Given the description of an element on the screen output the (x, y) to click on. 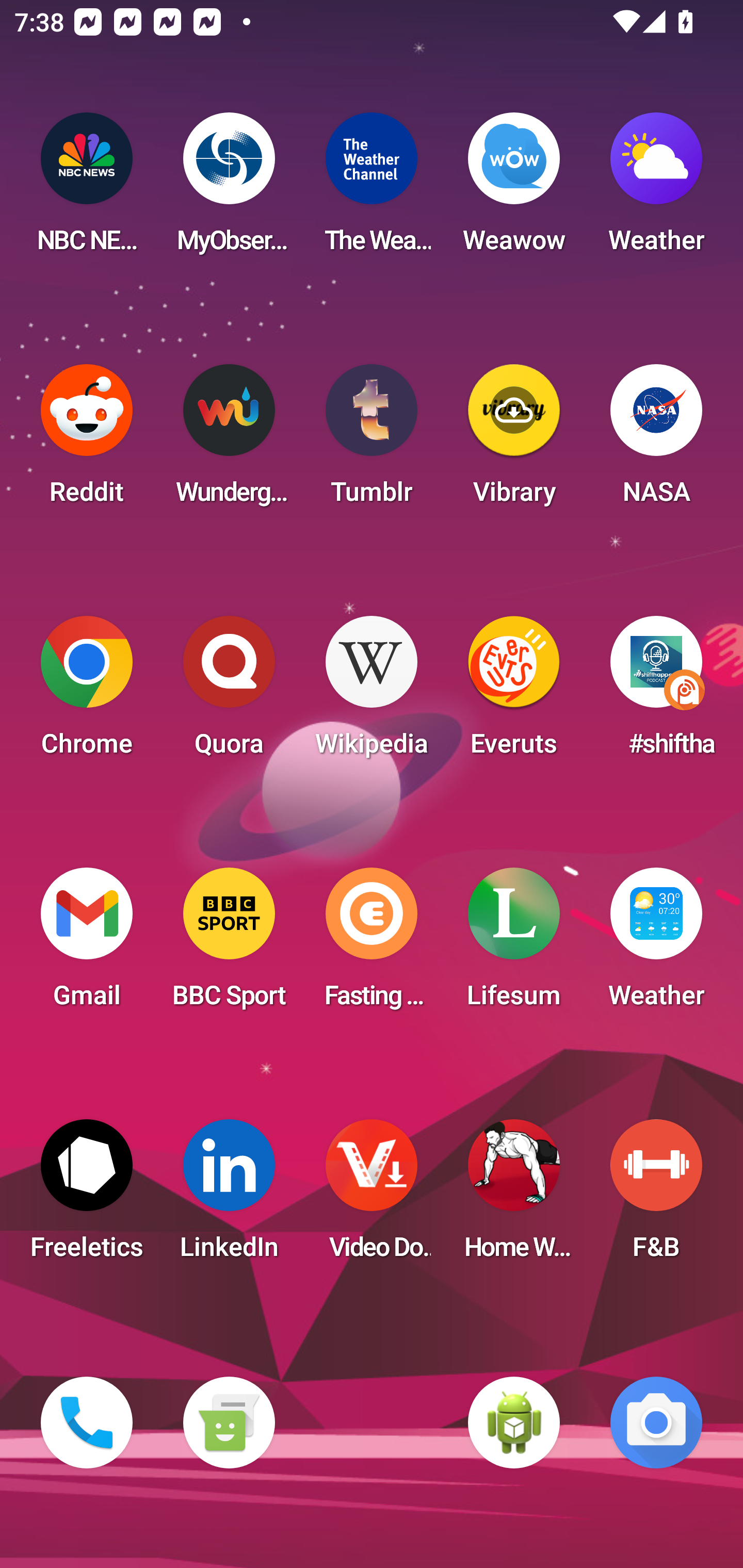
NBC NEWS (86, 188)
MyObservatory (228, 188)
The Weather Channel (371, 188)
Weawow (513, 188)
Weather (656, 188)
Reddit (86, 440)
Wunderground (228, 440)
Tumblr (371, 440)
Vibrary (513, 440)
NASA (656, 440)
Chrome (86, 692)
Quora (228, 692)
Wikipedia (371, 692)
Everuts (513, 692)
#shifthappens in the Digital Workplace Podcast (656, 692)
Gmail (86, 943)
BBC Sport (228, 943)
Fasting Coach (371, 943)
Lifesum (513, 943)
Weather (656, 943)
Freeletics (86, 1195)
LinkedIn (228, 1195)
Video Downloader & Ace Player (371, 1195)
Home Workout (513, 1195)
F&B (656, 1195)
Phone (86, 1422)
Messaging (228, 1422)
WebView Browser Tester (513, 1422)
Camera (656, 1422)
